Given the description of an element on the screen output the (x, y) to click on. 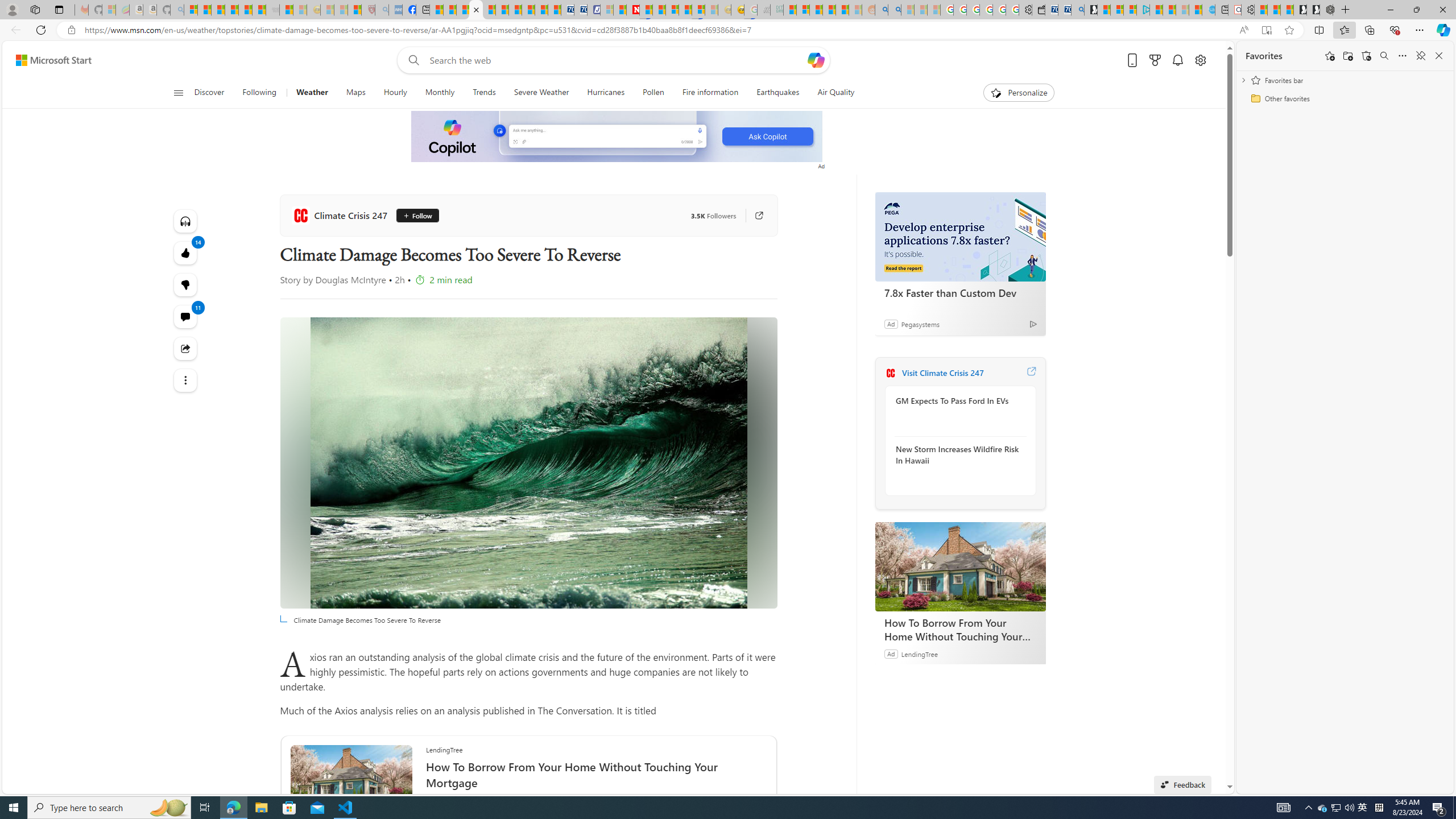
Add this page to favorites (1330, 55)
Share this story (184, 348)
Air Quality (831, 92)
Pollen (652, 92)
Go to publisher's site (758, 215)
GM Expects To Pass Ford In EVs (957, 401)
